Given the description of an element on the screen output the (x, y) to click on. 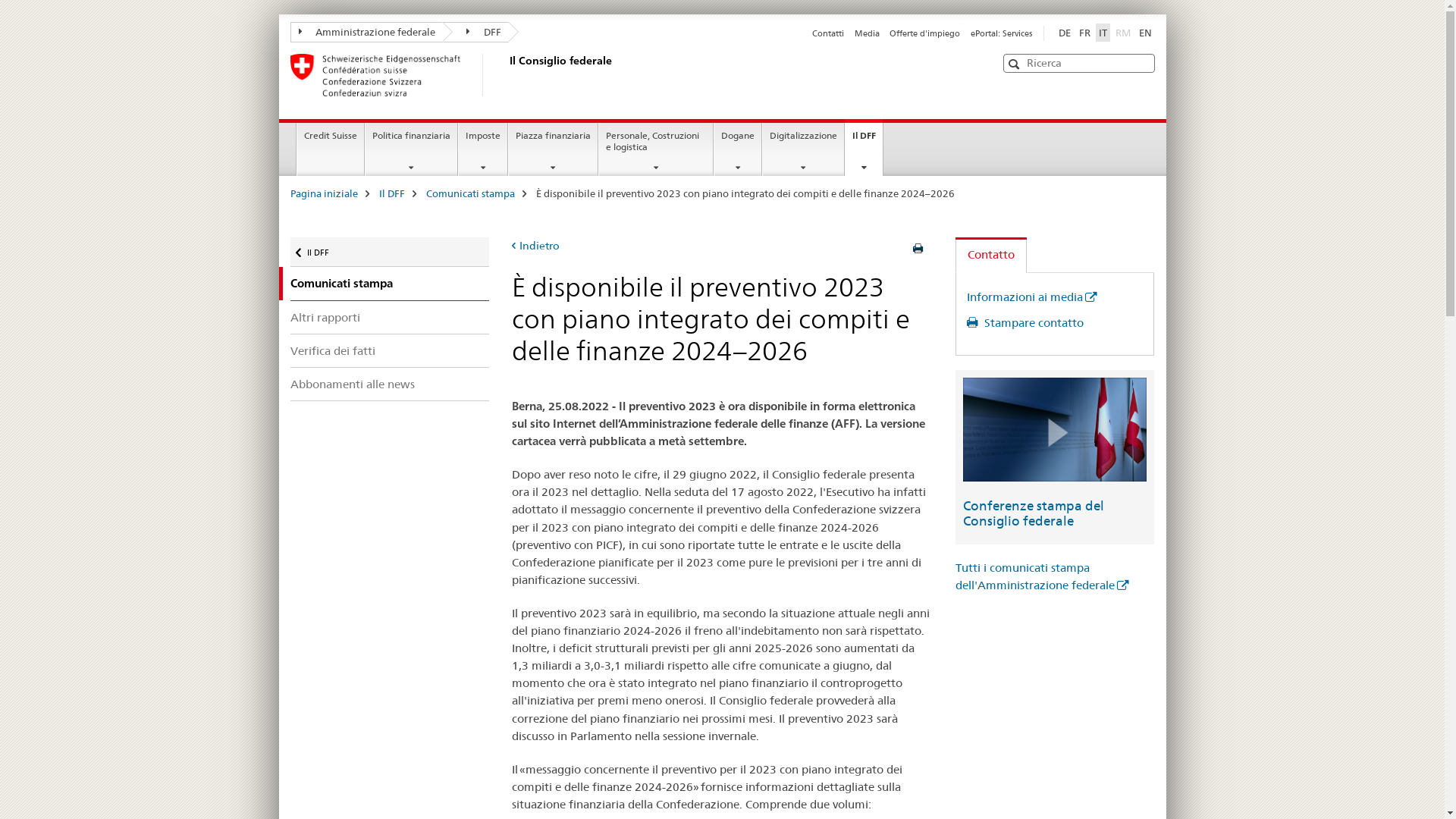
IT Element type: text (1102, 32)
Pagina iniziale Element type: text (323, 193)
Altri rapporti Element type: text (389, 317)
Piazza finanziaria Element type: text (552, 148)
Abbonamenti alle news Element type: text (389, 383)
Digitalizzazione Element type: text (803, 148)
Contatti Element type: text (828, 33)
FR Element type: text (1083, 32)
Credit Suisse Element type: text (330, 148)
Media Element type: text (866, 33)
EN Element type: text (1144, 32)
Politica finanziaria Element type: text (411, 148)
Contatto Element type: text (990, 255)
RM
disabled Element type: text (1121, 32)
Verifica dei fatti Element type: text (389, 350)
Amministrazione federale Element type: text (365, 31)
Comunicati stampa Element type: text (470, 193)
Il DFF
current page Element type: text (863, 147)
Stampare contatto Element type: text (1024, 322)
Imposte Element type: text (482, 148)
Informazioni ai media Element type: text (1031, 296)
Offerte d'impiego Element type: text (924, 33)
ePortal: Services Element type: text (1001, 33)
DE Element type: text (1064, 32)
Conferenze stampa del Consiglio federale Element type: text (1033, 513)
DFF Element type: text (475, 31)
Dogane Element type: text (737, 148)
Il DFF Element type: text (391, 193)
Personale, Costruzioni e logistica Element type: text (655, 148)
Indietro Element type: text (535, 245)
Il Consiglio federale Element type: text (505, 74)
Tutti i comunicati stampa dell'Amministrazione federale Element type: text (1041, 576)
